Given the description of an element on the screen output the (x, y) to click on. 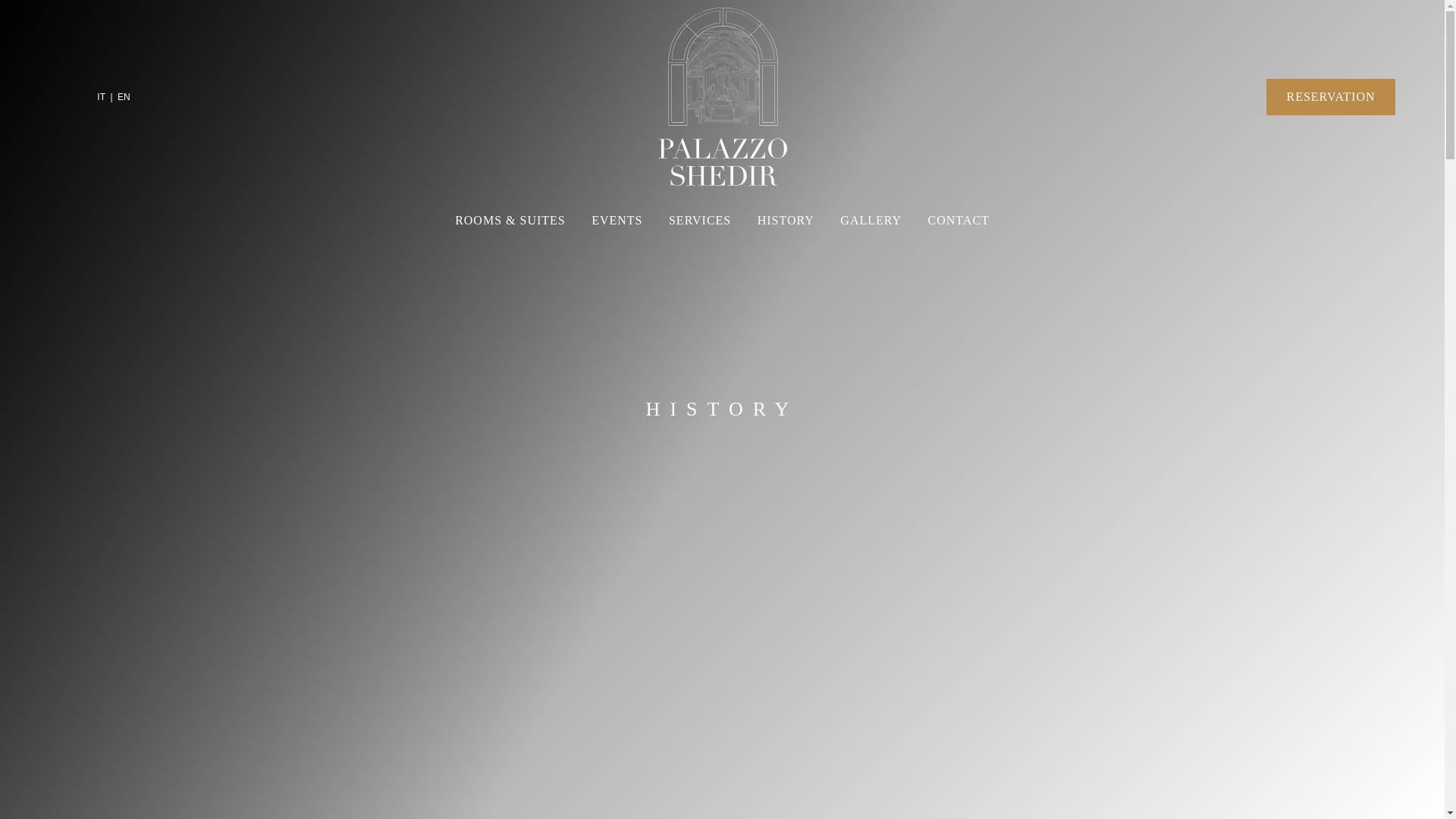
HISTORY (785, 220)
CONTACT (959, 220)
GALLERY (870, 220)
en (124, 97)
RESERVATION (1330, 96)
EVENTS (616, 220)
SERVICES (700, 220)
EN (124, 97)
